Given the description of an element on the screen output the (x, y) to click on. 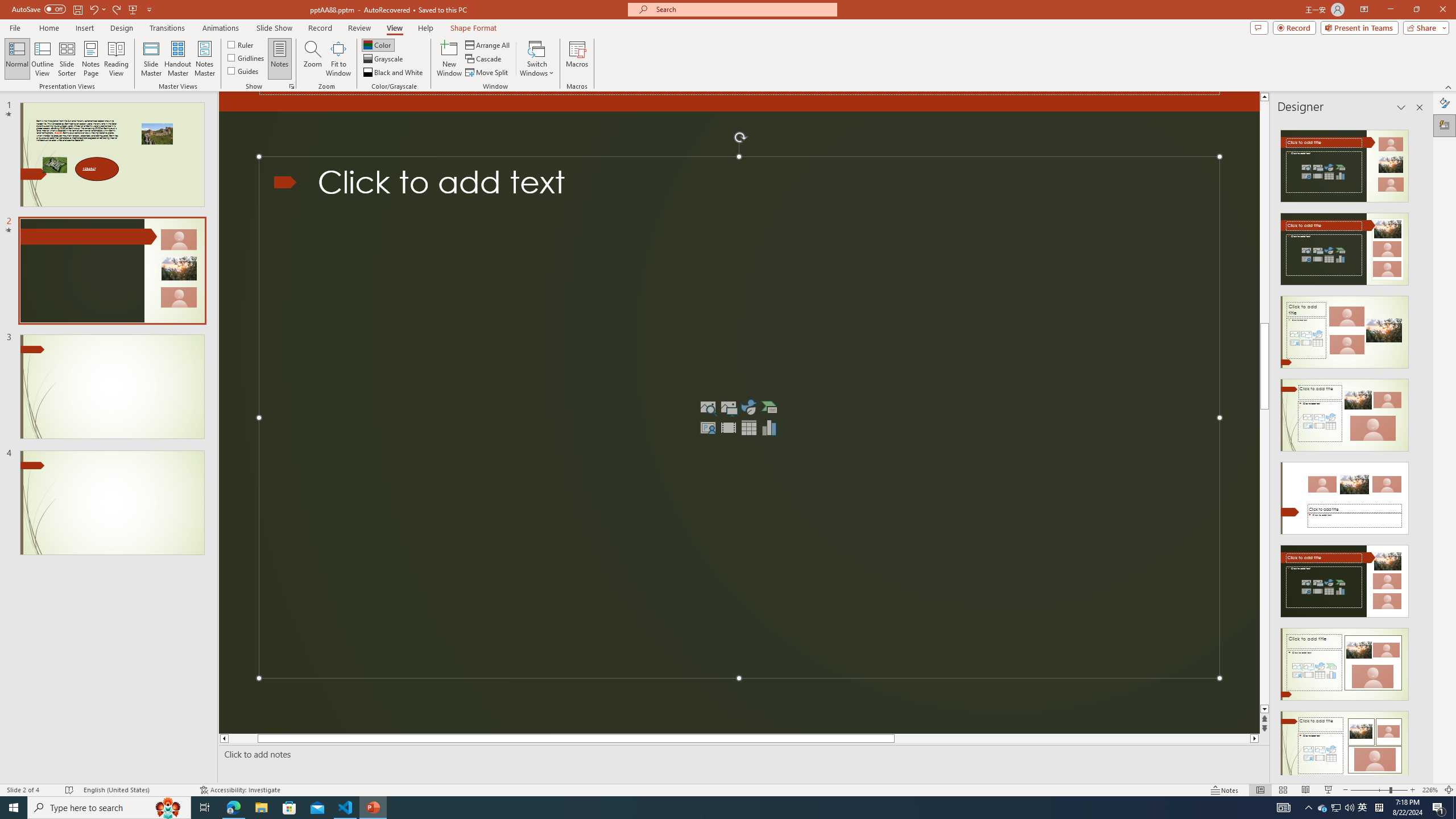
Slide Master (151, 58)
Macros (576, 58)
Outline View (42, 58)
Decorative Locked (738, 101)
Recommended Design: Design Idea (1344, 162)
Stock Images (707, 407)
Guides (243, 69)
Insert Table (748, 427)
Black and White (393, 72)
